Given the description of an element on the screen output the (x, y) to click on. 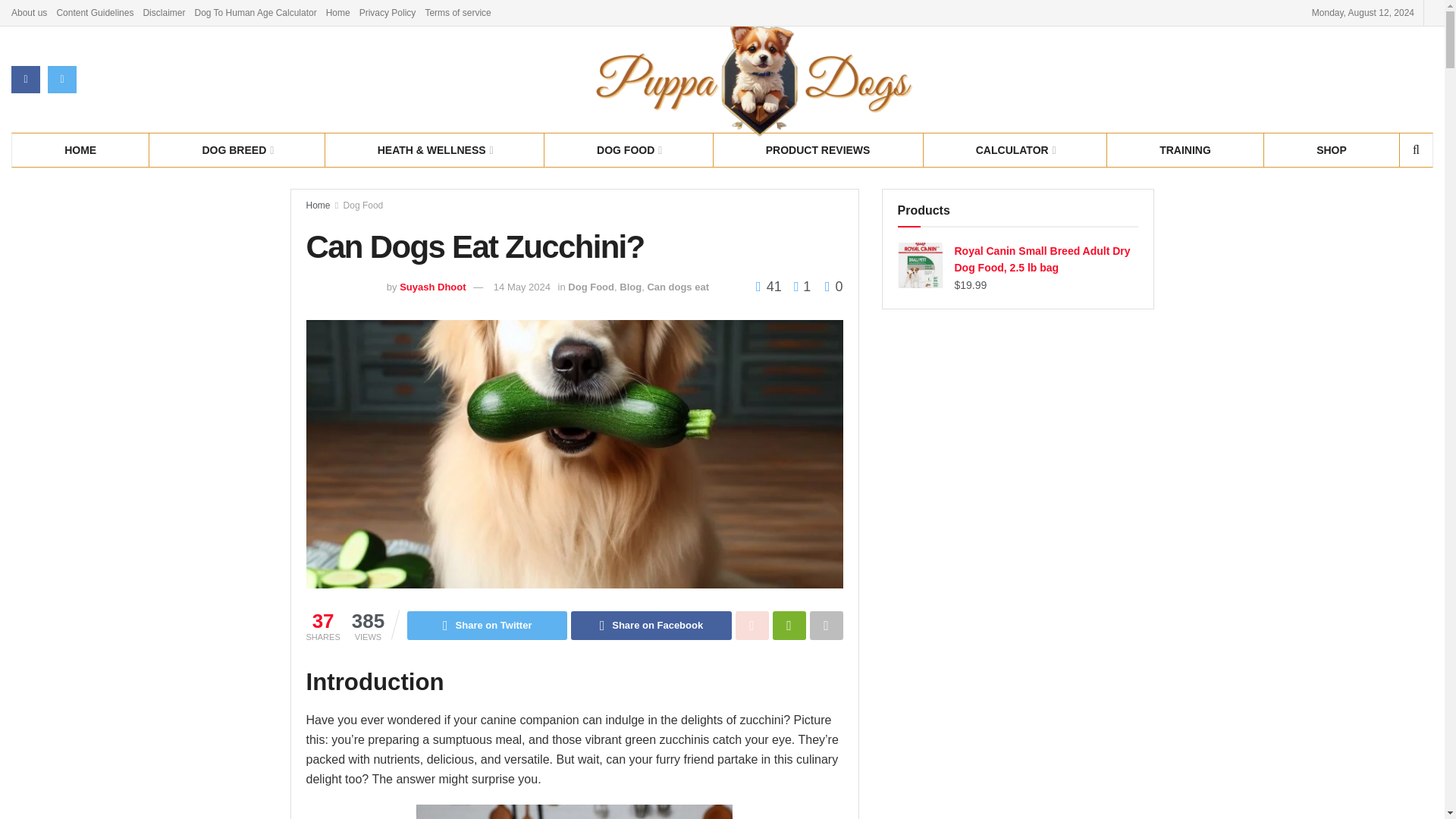
Content Guidelines (94, 12)
Home (338, 12)
DOG BREED (236, 149)
Dog To Human Age Calculator (254, 12)
Terms of service (457, 12)
About us (28, 12)
HOME (80, 149)
Privacy Policy (387, 12)
Disclaimer (163, 12)
